Given the description of an element on the screen output the (x, y) to click on. 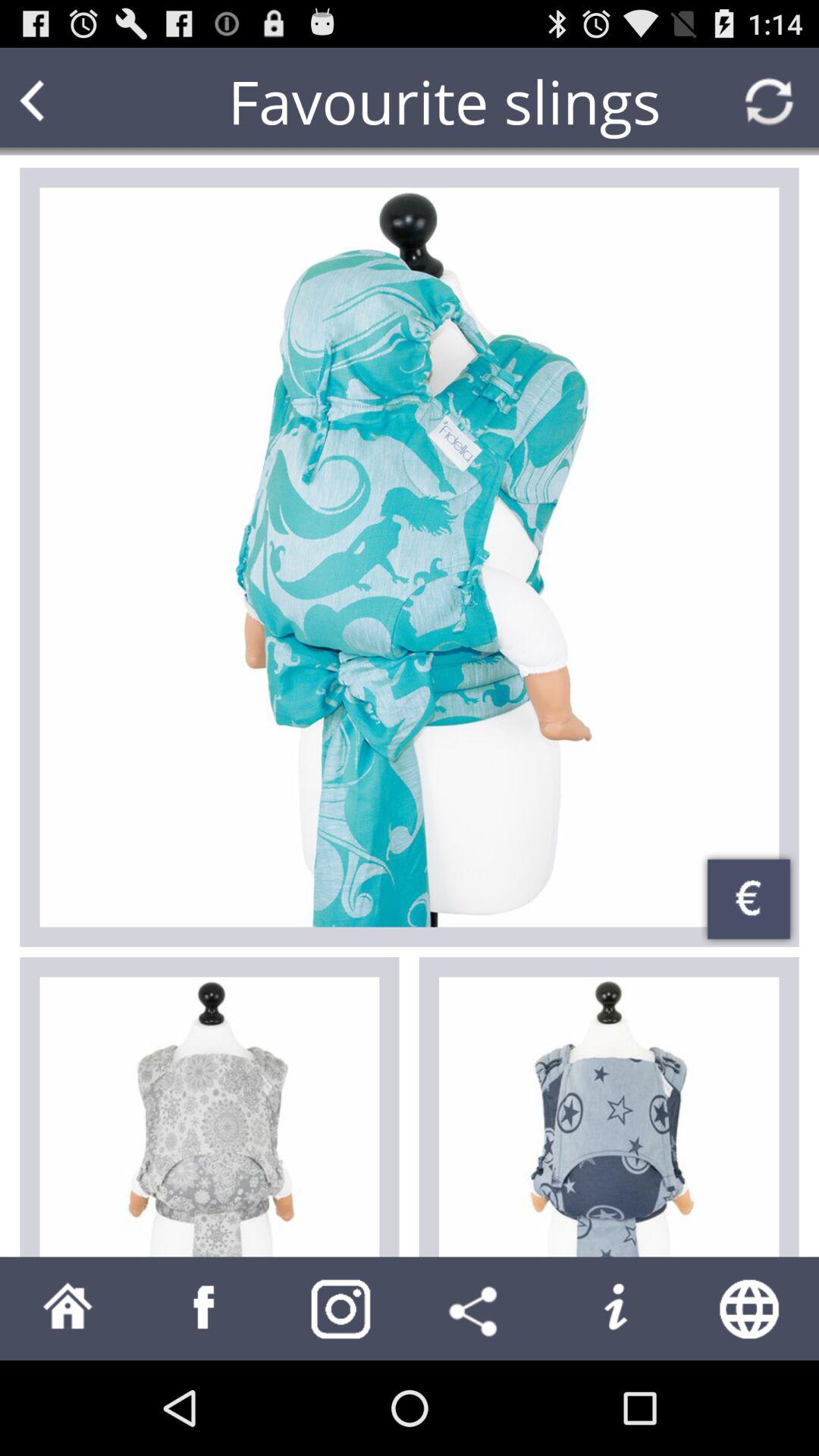
shows information (614, 1308)
